Given the description of an element on the screen output the (x, y) to click on. 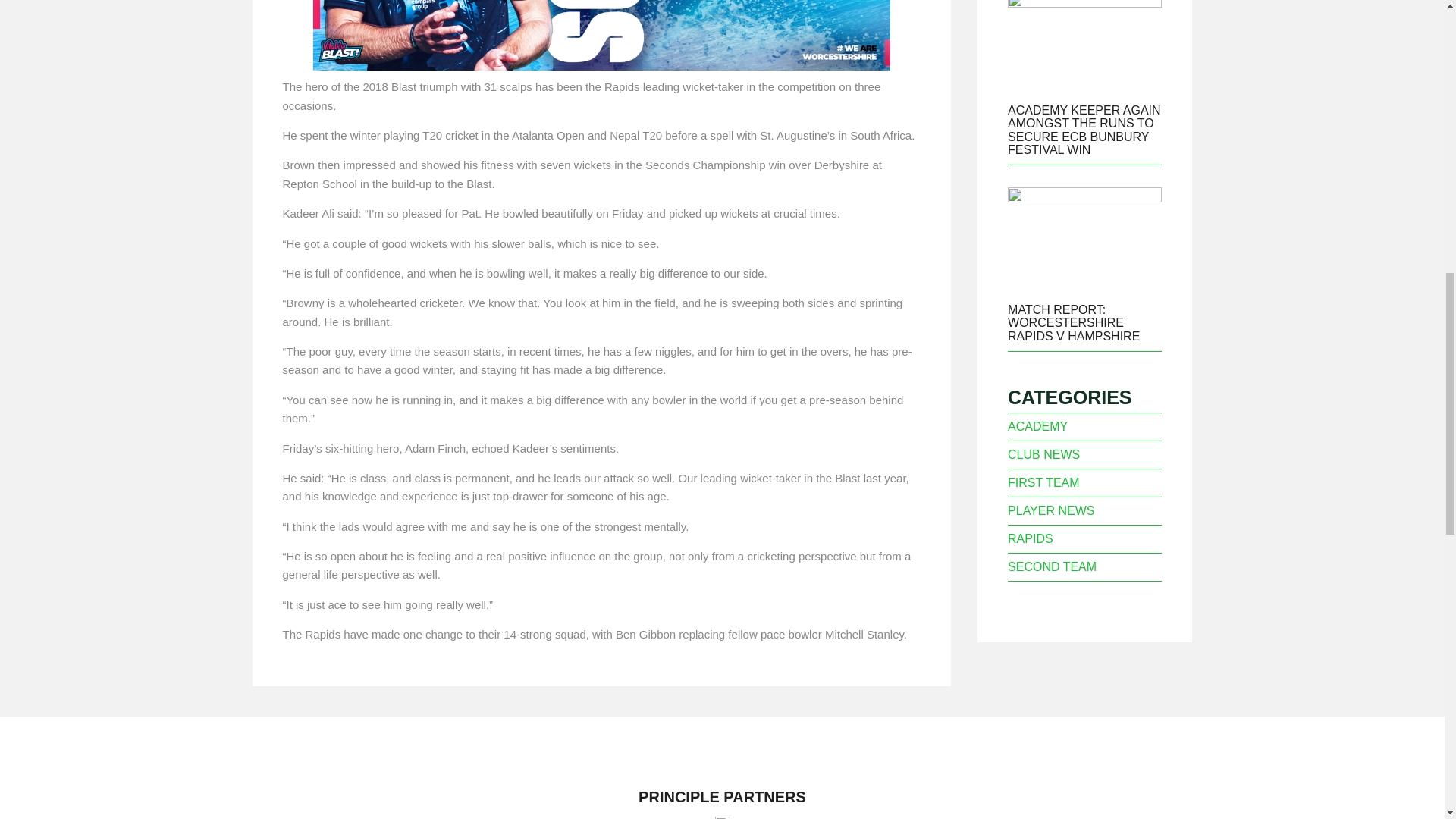
RAPIDS (1029, 538)
FIRST TEAM (1043, 481)
MATCH REPORT: WORCESTERSHIRE RAPIDS V HAMPSHIRE (1073, 323)
CLUB NEWS (1043, 454)
SECOND TEAM (1051, 566)
PLAYER NEWS (1050, 510)
ACADEMY (1037, 426)
